Given the description of an element on the screen output the (x, y) to click on. 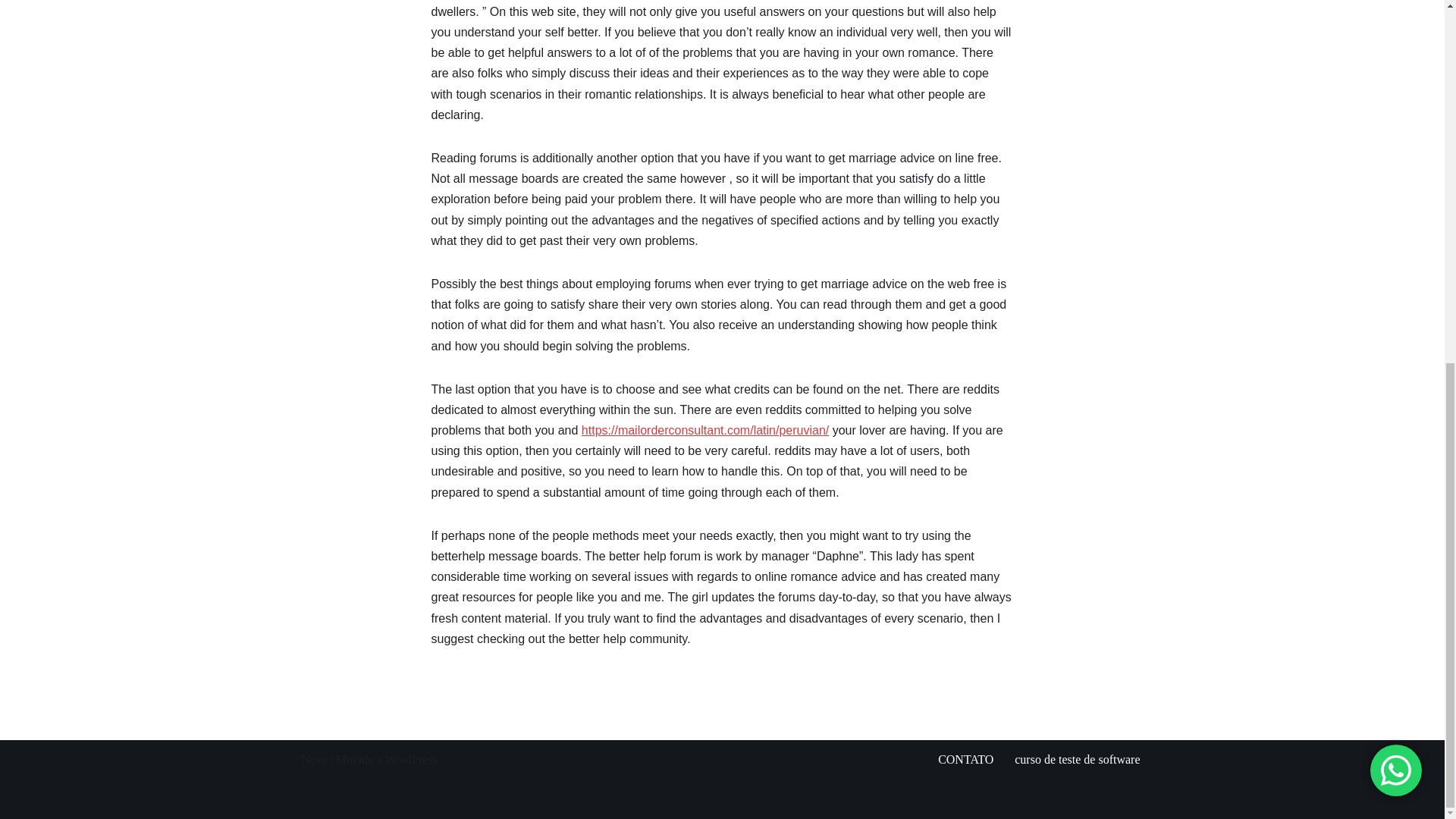
CONTATO (964, 759)
Neve (314, 758)
curso de teste de software (1077, 759)
WordPress (411, 758)
